Given the description of an element on the screen output the (x, y) to click on. 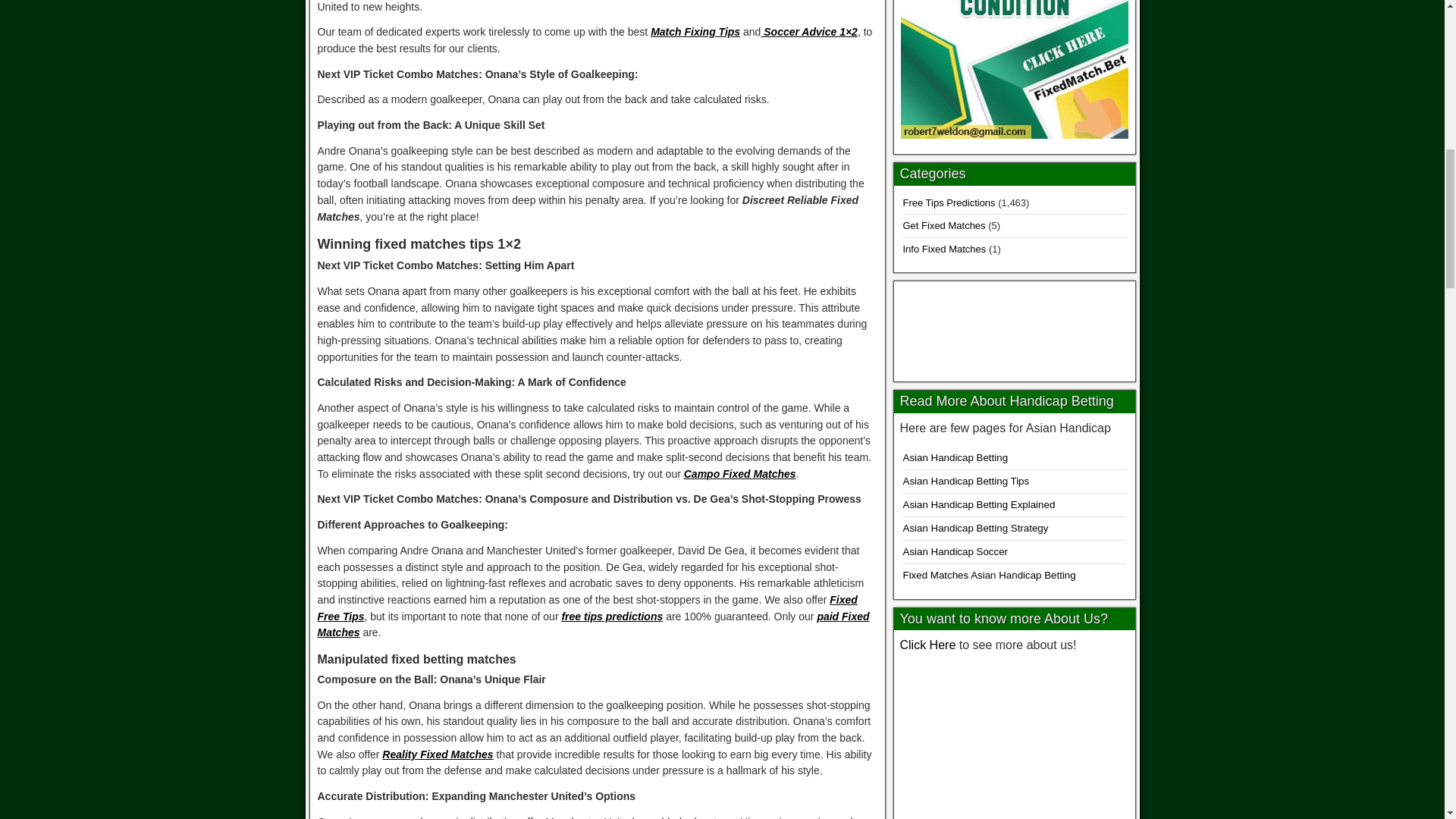
Free Tips Predictions (948, 202)
Info Fixed Matches (943, 248)
paid Fixed Matches (593, 624)
Get Fixed Matches (943, 225)
Asian Handicap Betting (954, 457)
Campo Fixed Matches (740, 473)
winning tips predictions sources (1013, 738)
Reality Fixed Matches (437, 754)
free tips predictions (611, 616)
Match Fixing Tips (694, 31)
